Given the description of an element on the screen output the (x, y) to click on. 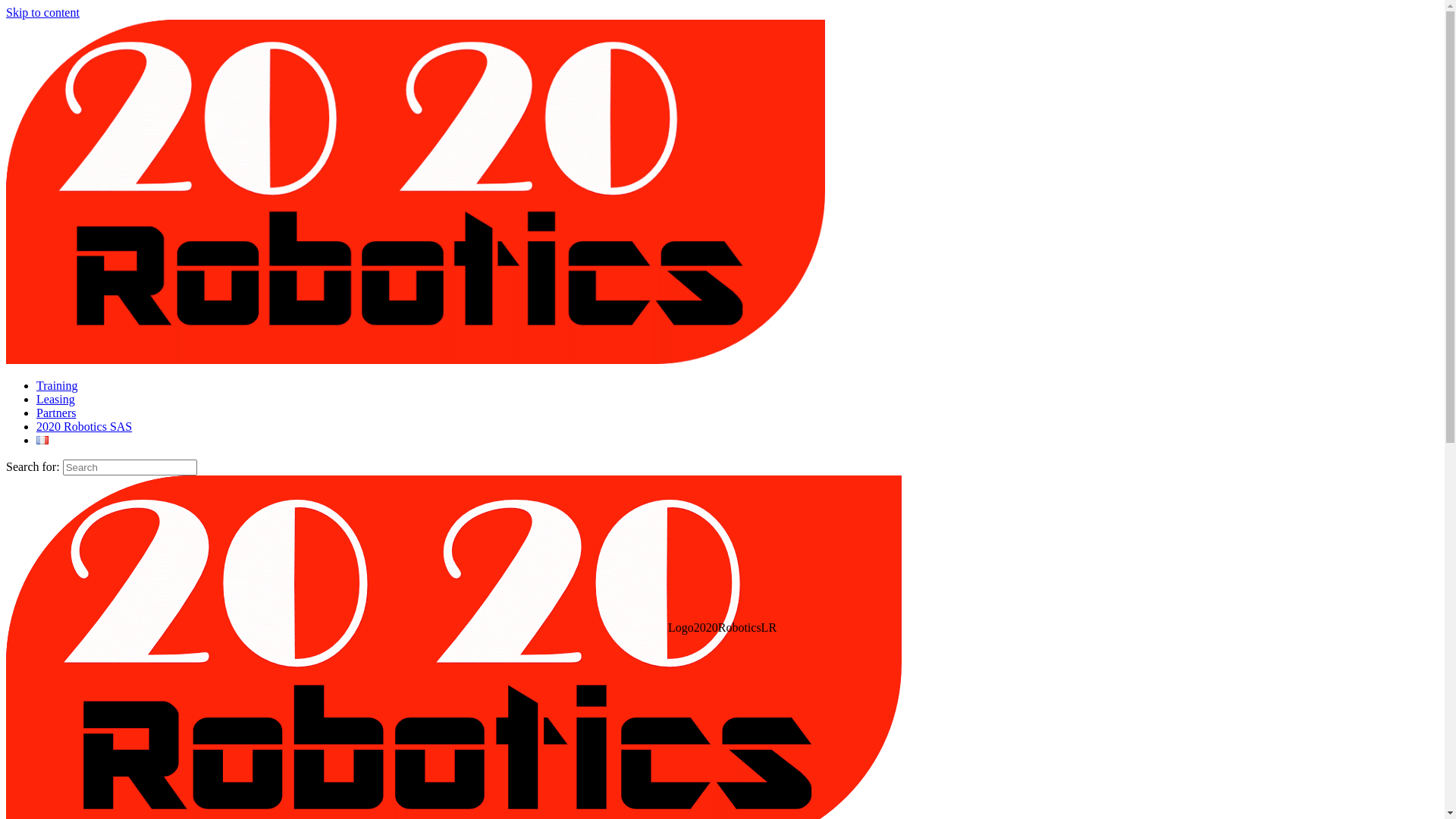
2020 Robotics SAS Element type: text (83, 426)
Leasing Element type: text (55, 398)
2020 Robotics Element type: hover (415, 359)
Skip to content Element type: text (42, 12)
Training Element type: text (57, 385)
Partners Element type: text (55, 412)
